Given the description of an element on the screen output the (x, y) to click on. 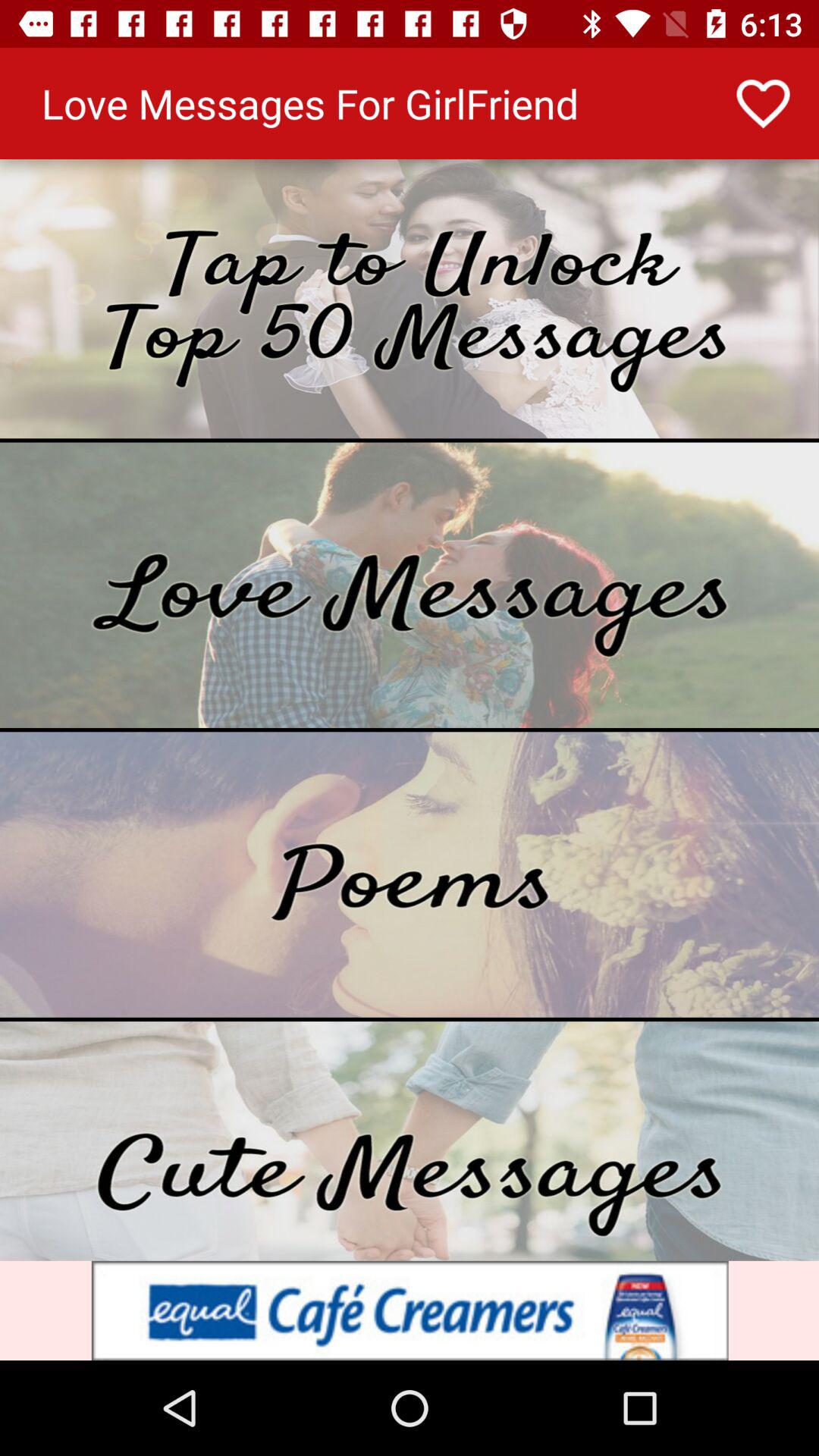
unlock messages (409, 298)
